Given the description of an element on the screen output the (x, y) to click on. 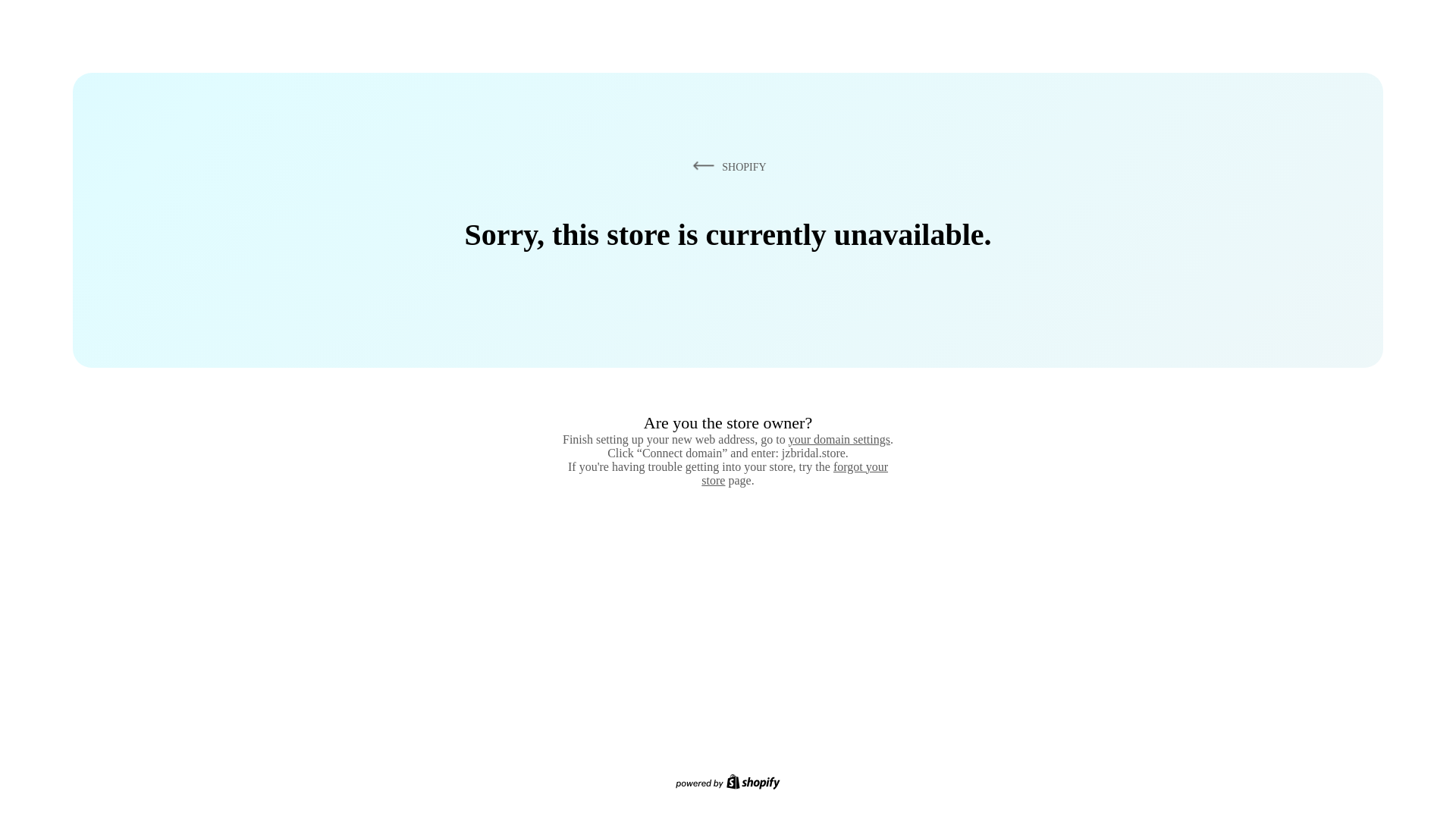
forgot your store (794, 473)
your domain settings (839, 439)
SHOPIFY (726, 166)
